Given the description of an element on the screen output the (x, y) to click on. 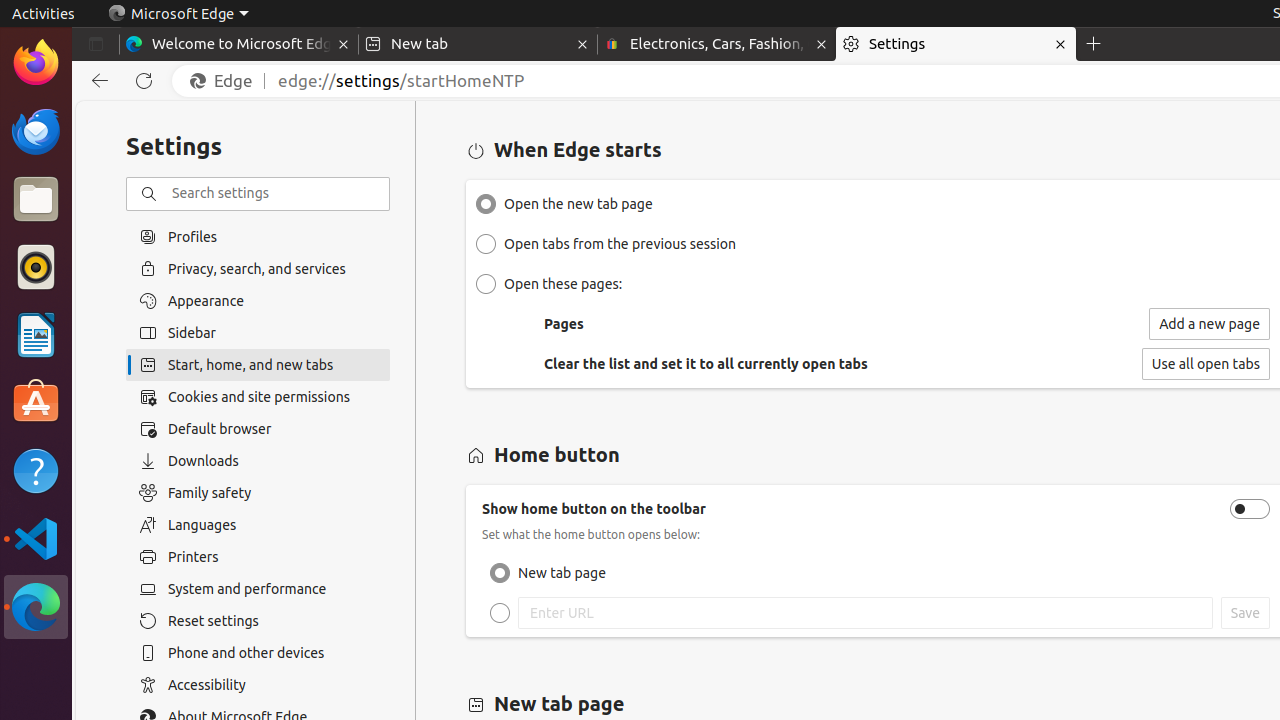
Show home button on the toolbar Element type: check-box (1250, 509)
Close tab Element type: push-button (343, 44)
Start, home, and new tabs Element type: tree-item (258, 365)
Phone and other devices Element type: tree-item (258, 653)
Rhythmbox Element type: push-button (36, 267)
